Given the description of an element on the screen output the (x, y) to click on. 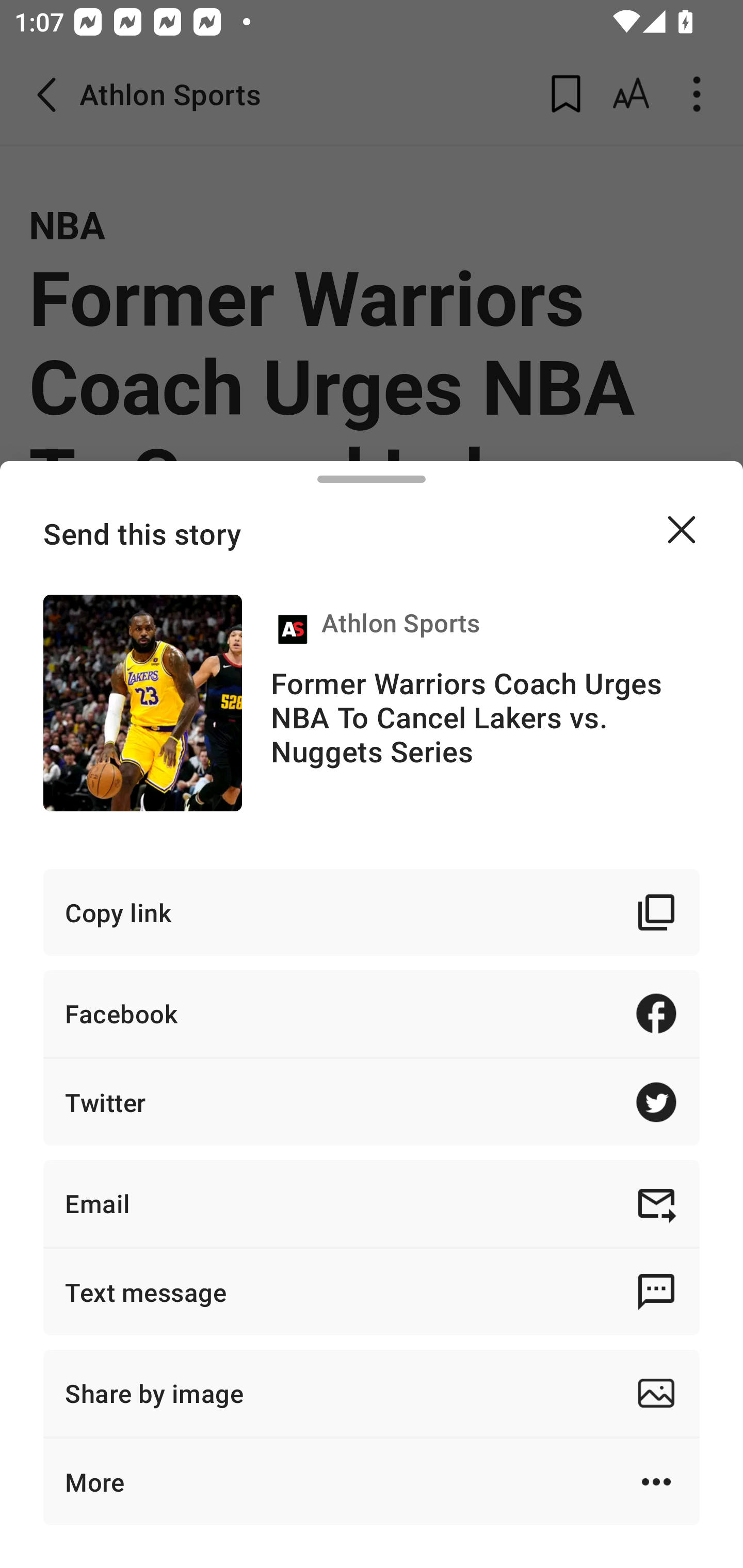
Copy link (371, 912)
Facebook (371, 1013)
Twitter (371, 1102)
Email (371, 1203)
Text message (371, 1291)
Share by image (371, 1393)
More (371, 1481)
